Given the description of an element on the screen output the (x, y) to click on. 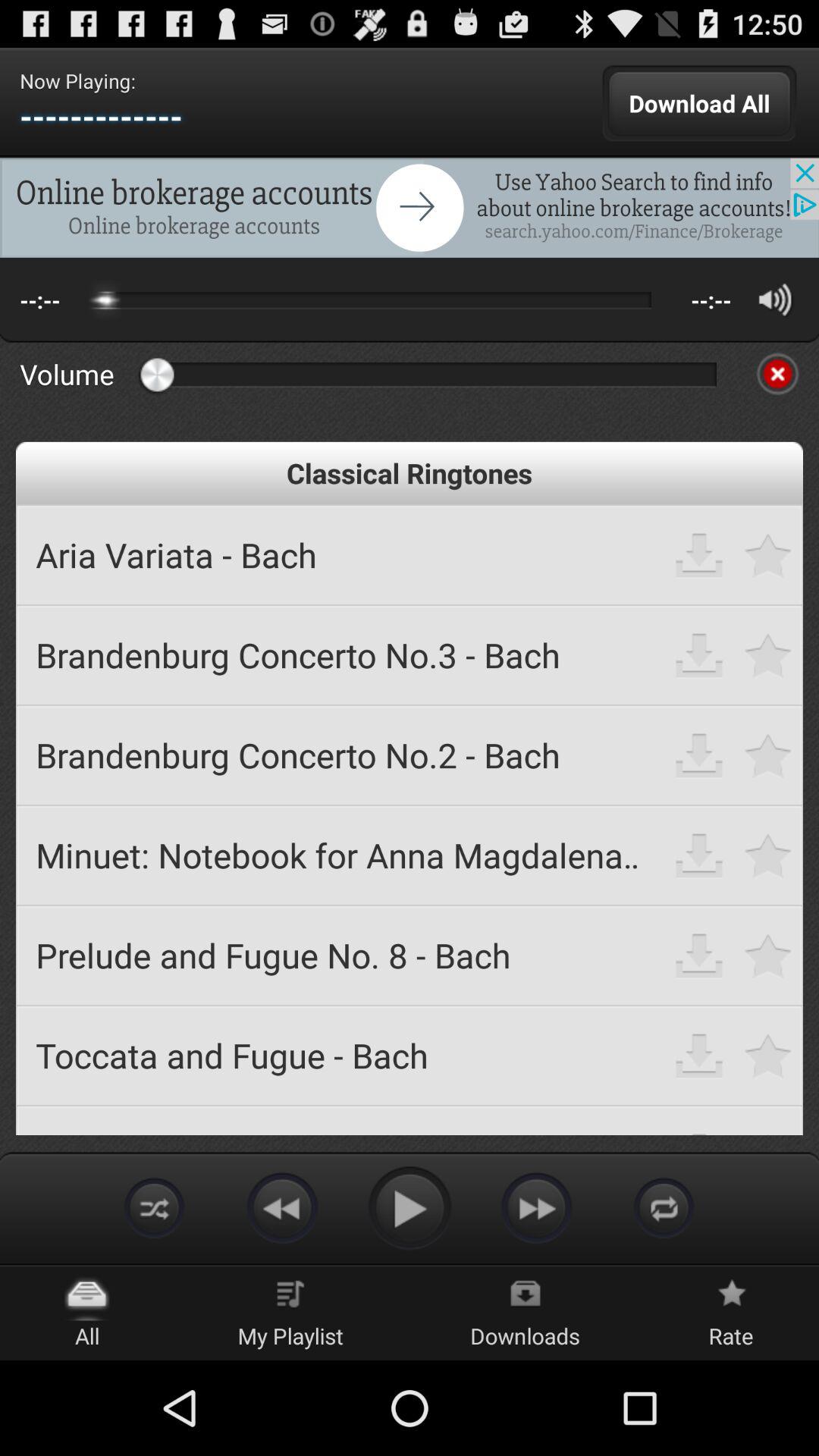
mute audio (777, 373)
